Given the description of an element on the screen output the (x, y) to click on. 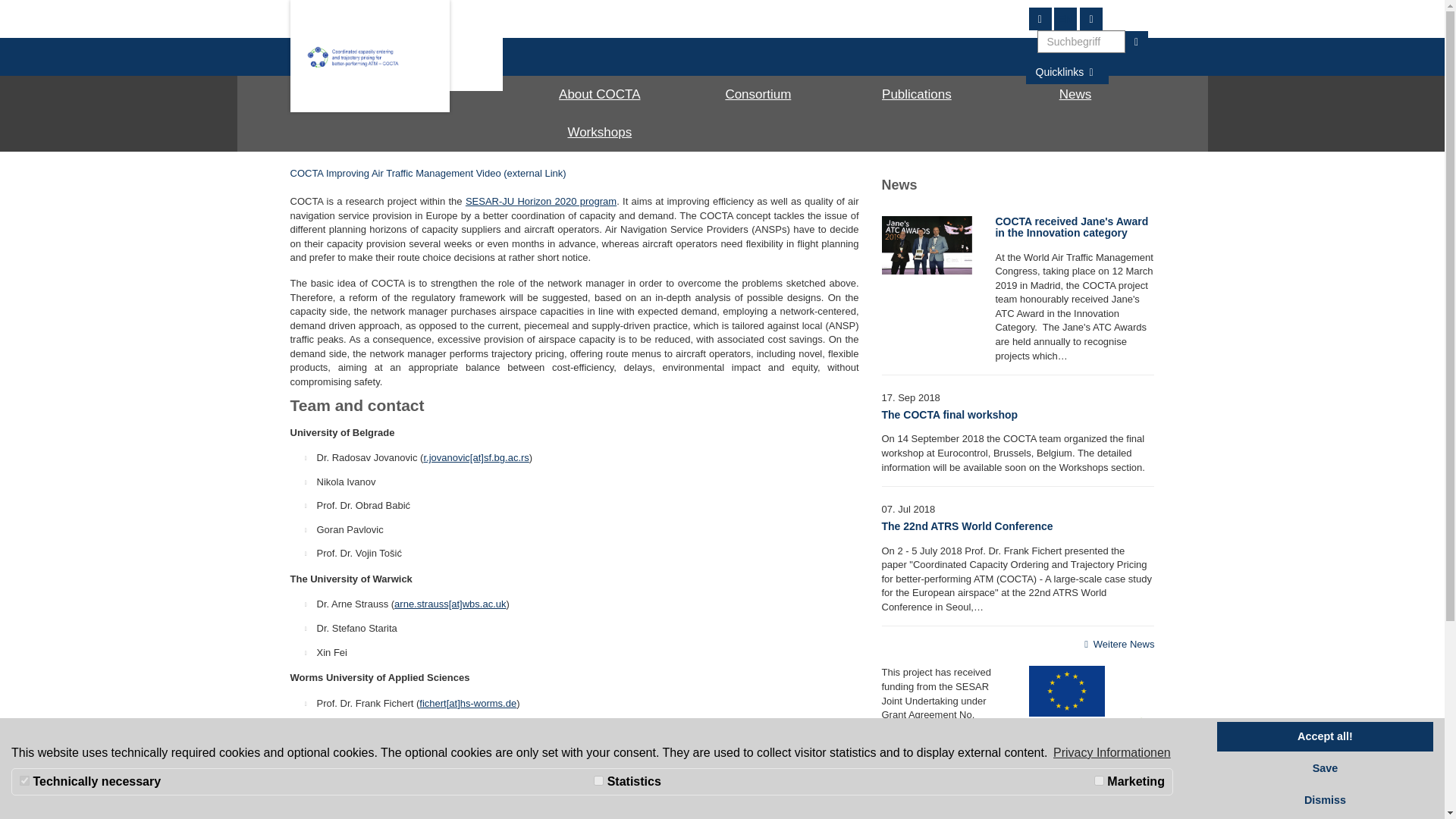
Privacy Informationen (1112, 753)
Publications and reports (916, 94)
Dismiss (1324, 800)
Publications (916, 94)
News (1074, 94)
Consortium (757, 94)
Workshops (598, 132)
The 22nd ATRS World Conference (966, 526)
EN (1065, 18)
About COCTA (598, 94)
Accept all! (1324, 736)
Consortium (757, 94)
Save (1324, 768)
COCTA received Jane's Award in the Innovation category (1071, 227)
Workshops (598, 132)
